Given the description of an element on the screen output the (x, y) to click on. 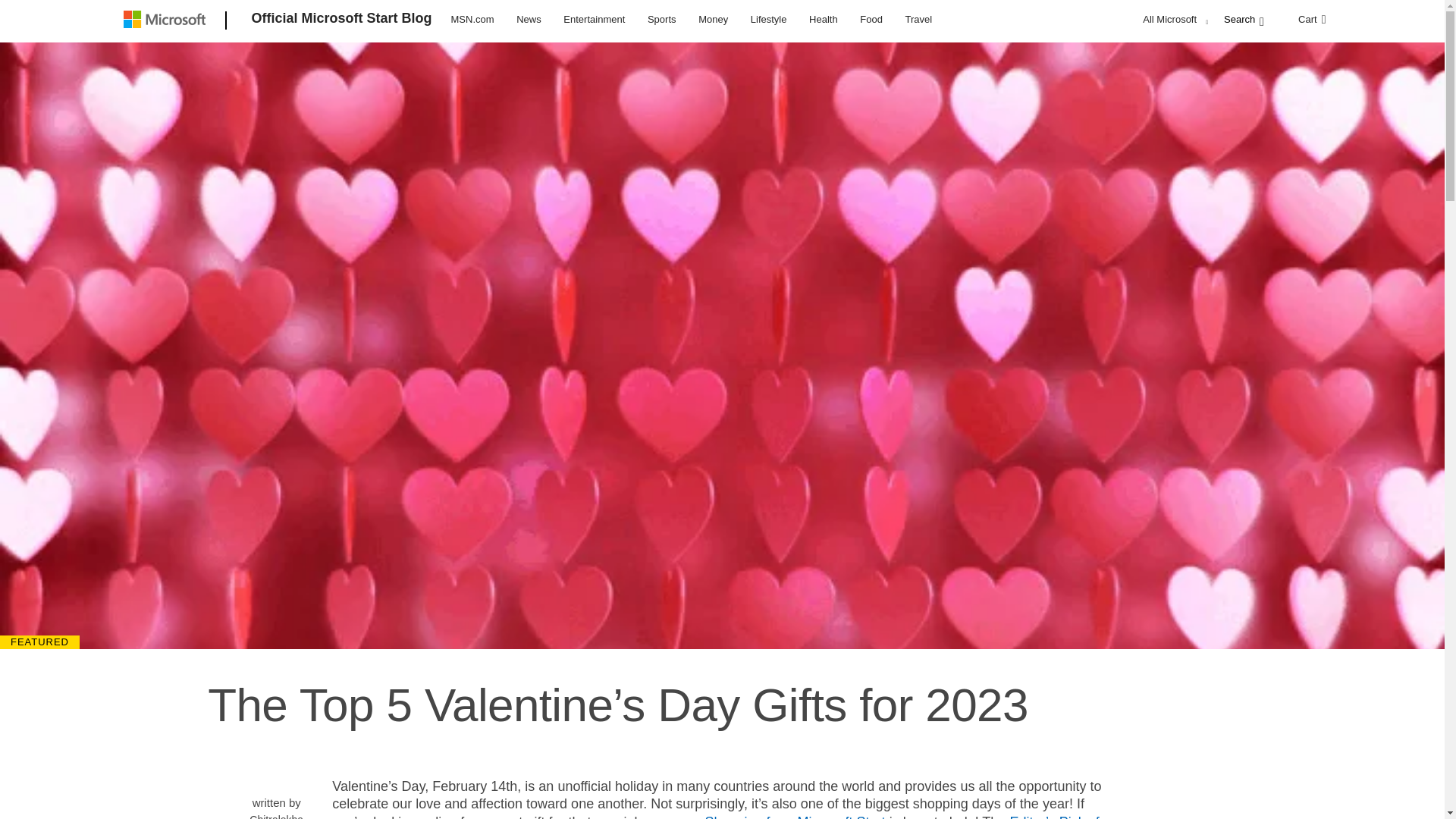
News (528, 18)
Health (823, 18)
Money (713, 18)
Sports (661, 18)
Food (871, 18)
Entertainment (593, 18)
Microsoft (167, 20)
All Microsoft (1173, 18)
Travel (918, 18)
Lifestyle (768, 18)
